Given the description of an element on the screen output the (x, y) to click on. 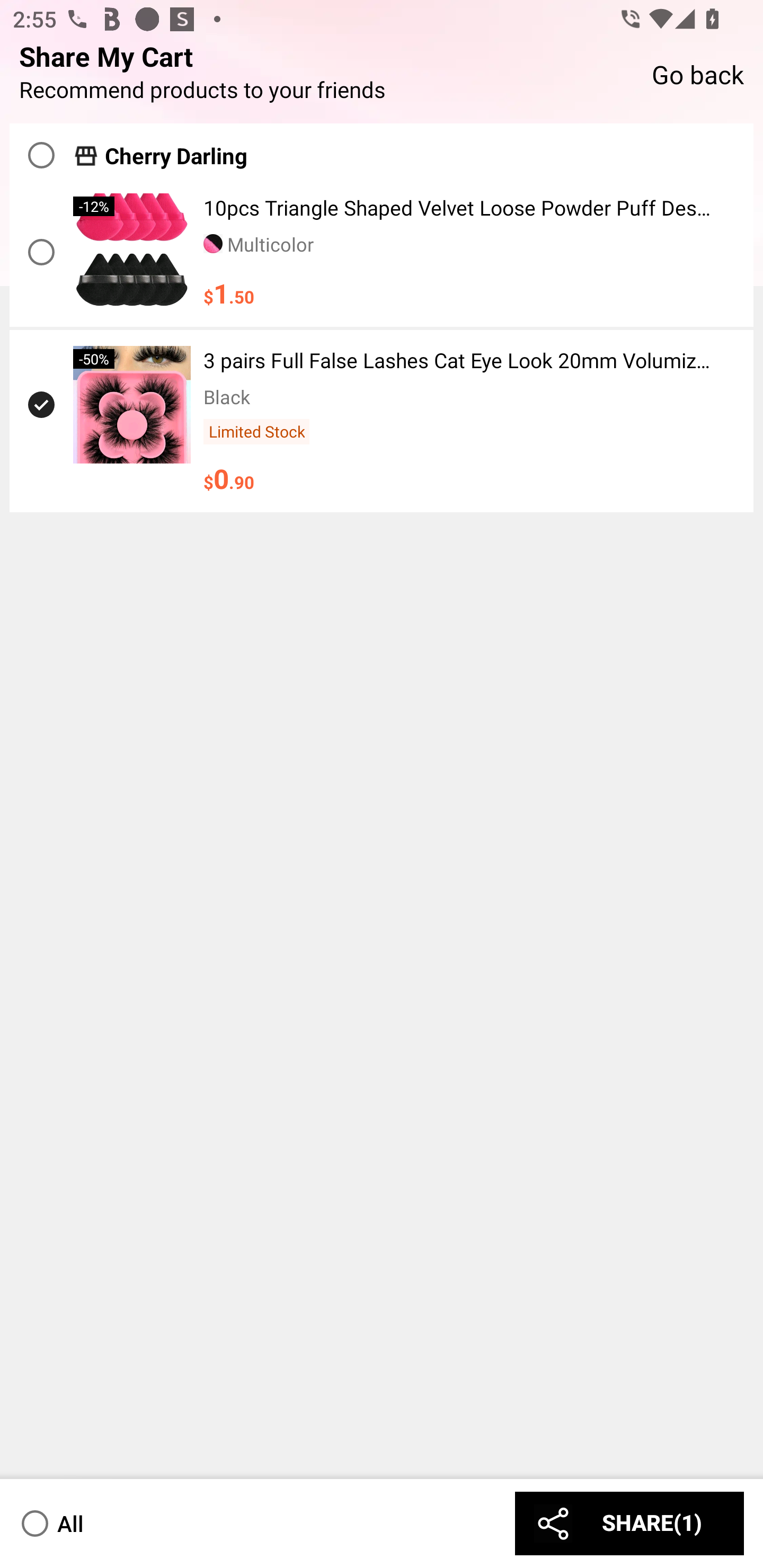
Go back (697, 73)
Cherry Darling (381, 150)
Cherry Darling (176, 155)
 Multicolor (258, 243)
Black (226, 396)
SHARE(1) (629, 1523)
All (51, 1522)
